Given the description of an element on the screen output the (x, y) to click on. 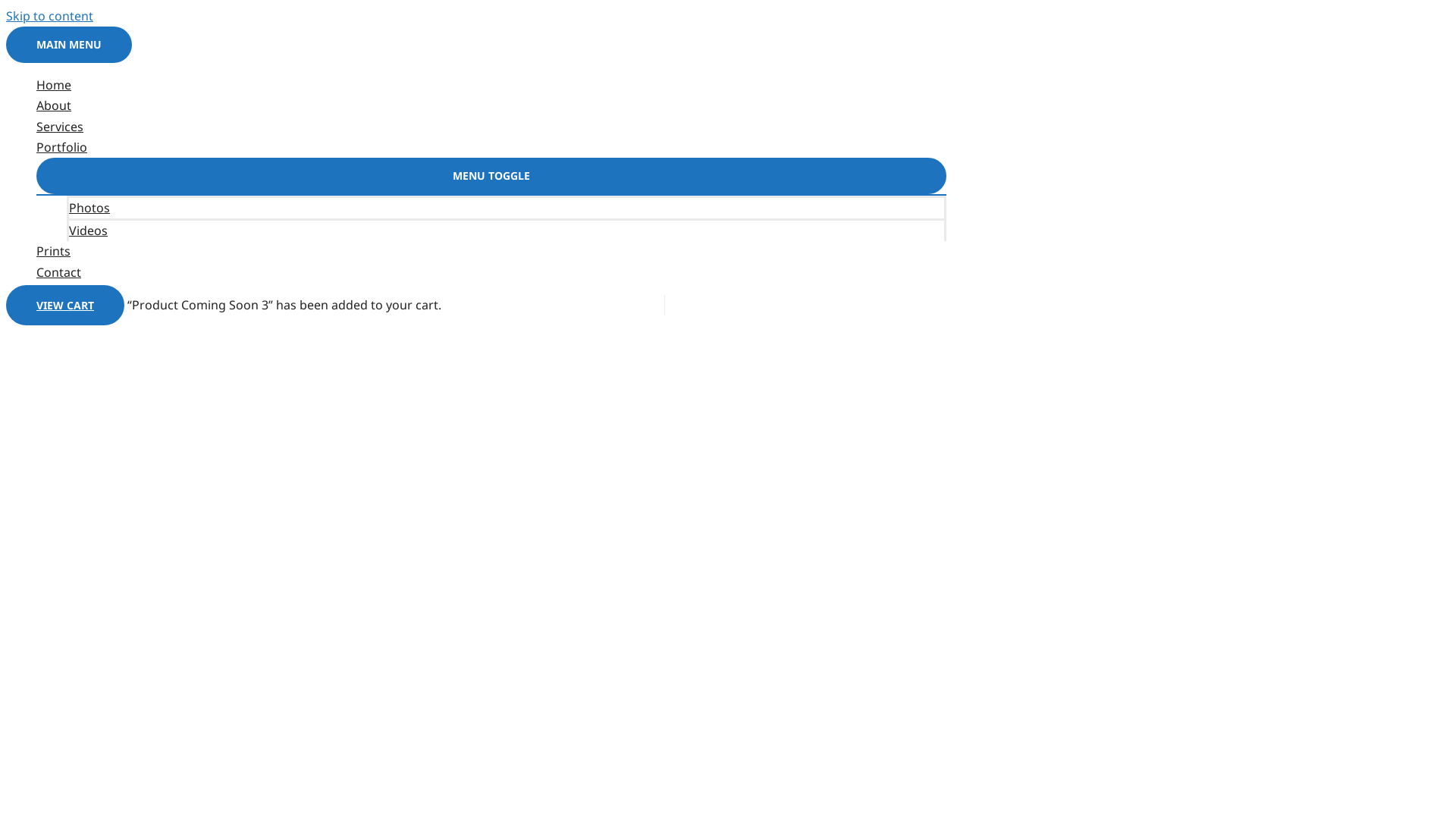
Services Element type: text (491, 126)
Prints Element type: text (491, 251)
Photos Element type: text (506, 206)
MENU TOGGLE Element type: text (491, 175)
VIEW CART Element type: text (65, 305)
About Element type: text (491, 105)
Videos Element type: text (506, 229)
Contact Element type: text (491, 272)
Skip to content Element type: text (49, 15)
Home Element type: text (491, 85)
MAIN MENU Element type: text (68, 44)
Portfolio Element type: text (491, 147)
